Given the description of an element on the screen output the (x, y) to click on. 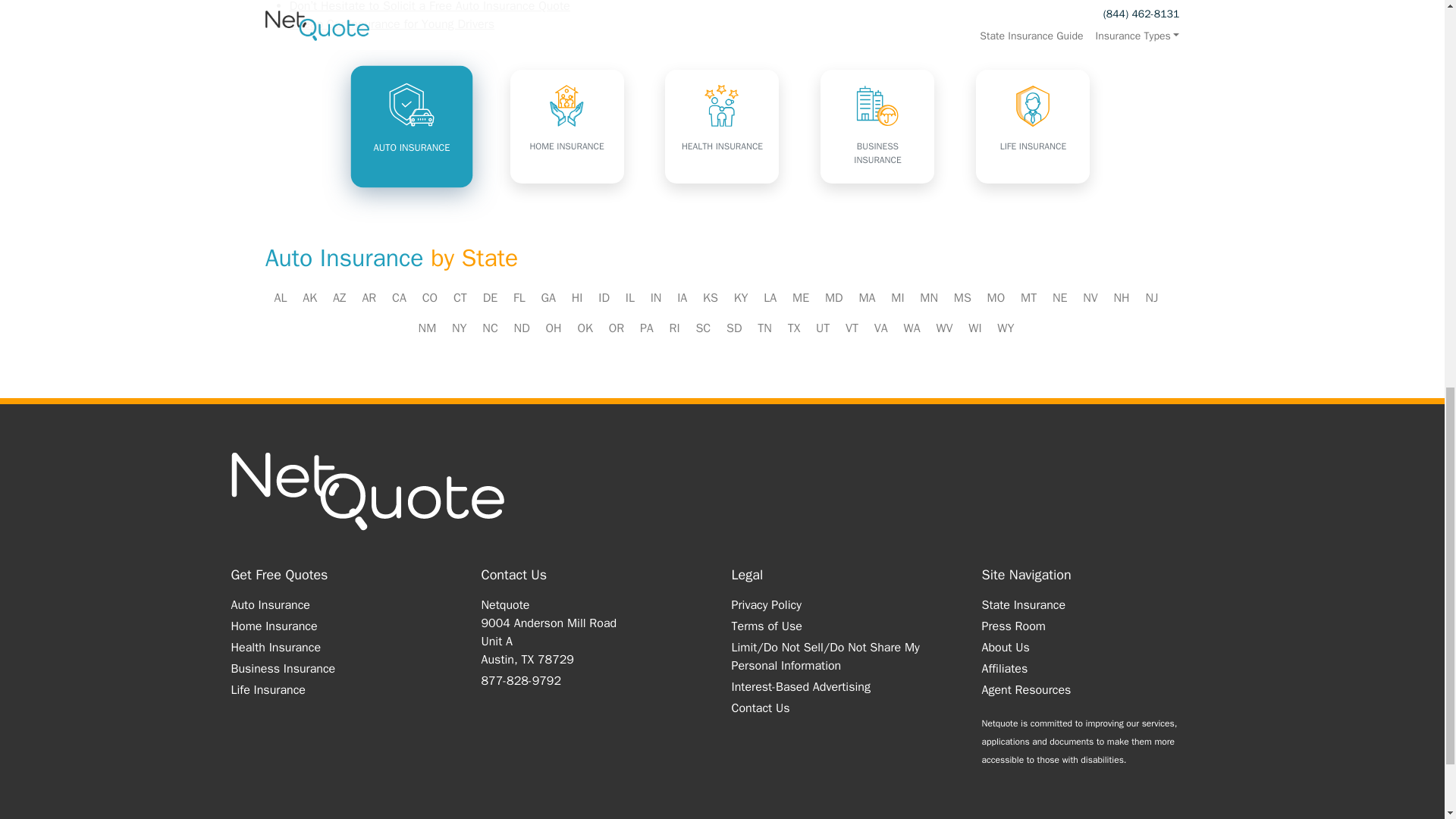
BUSINESS INSURANCE (877, 126)
LIFE INSURANCE (1032, 126)
AUTO INSURANCE (407, 122)
HEALTH INSURANCE (721, 126)
Cheap Car Insurance for Young Drivers (392, 23)
AK (309, 297)
AZ (339, 297)
HOME INSURANCE (567, 126)
